Given the description of an element on the screen output the (x, y) to click on. 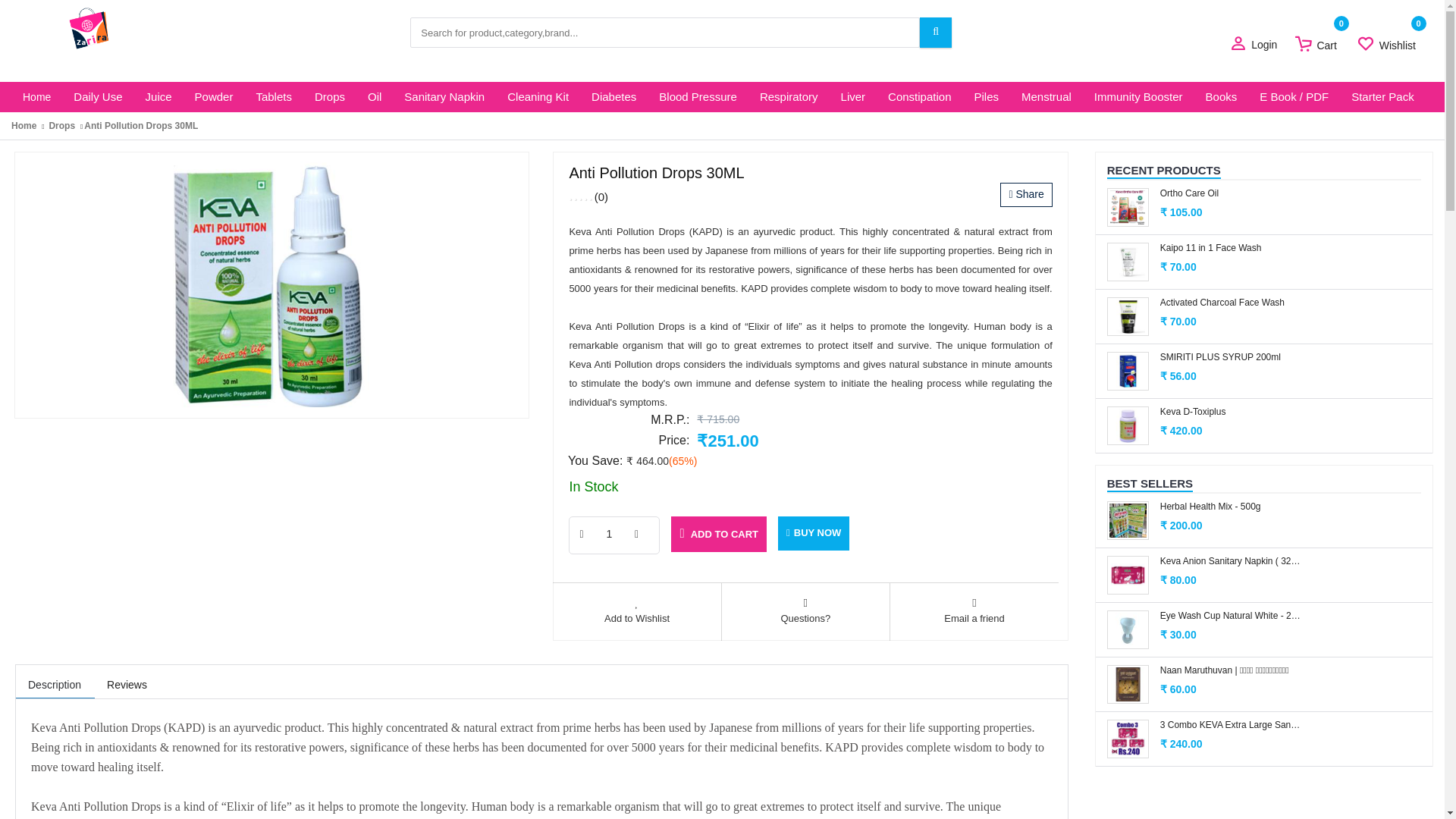
Juice (158, 96)
Question about product? (805, 614)
Starter Pack (1382, 96)
Constipation (919, 96)
Drops (329, 96)
Liver (853, 96)
Respiratory (788, 96)
Daily Use (97, 96)
Login (1261, 45)
Oil (374, 96)
Powder (213, 96)
Home (36, 96)
Tablets (273, 96)
Wishlist (1392, 46)
Add to wishlist (636, 614)
